Given the description of an element on the screen output the (x, y) to click on. 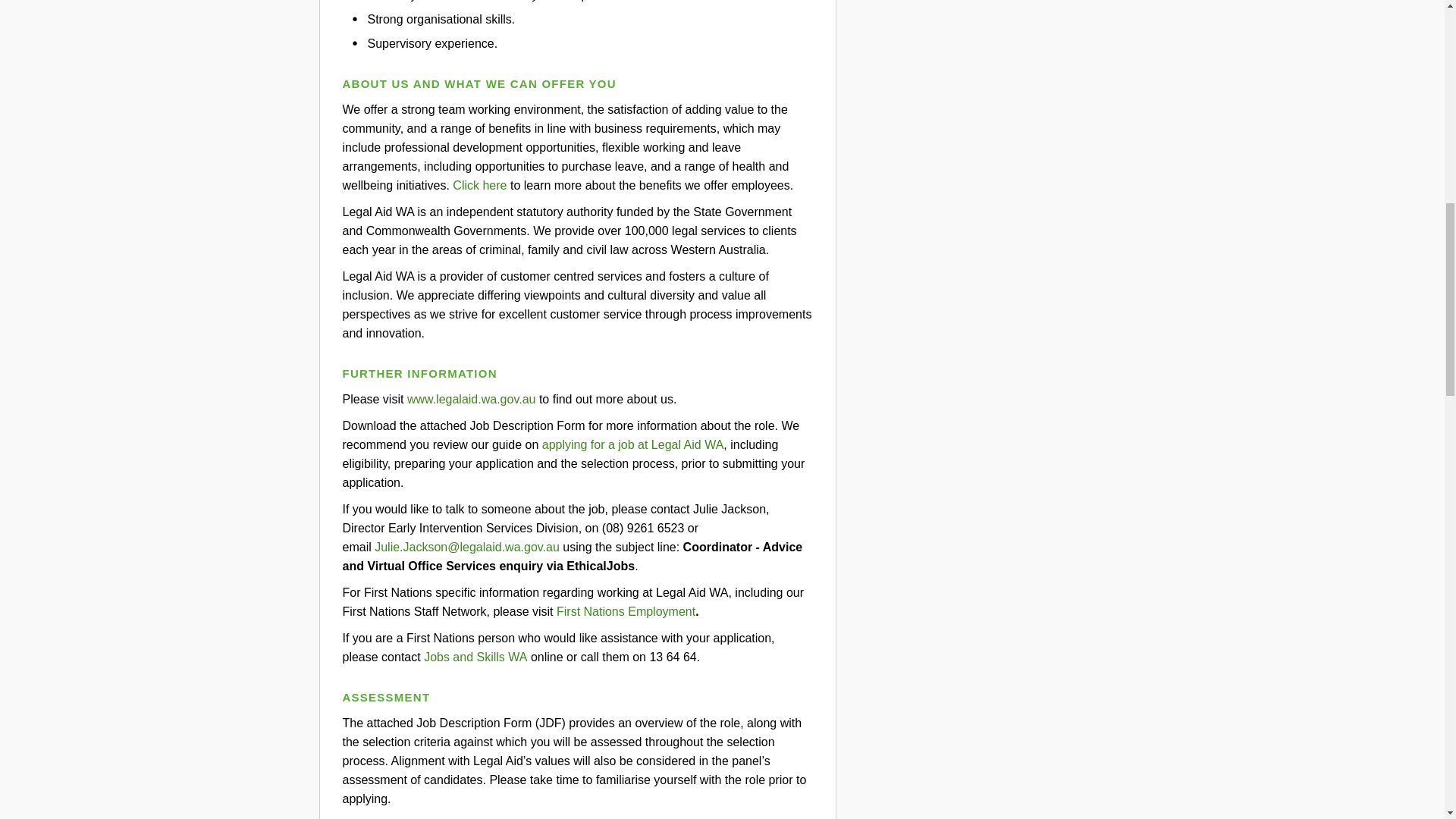
First Nations Employment (625, 609)
applying for a job at Legal Aid WA (633, 443)
www.legalaid.wa.gov.au (471, 397)
Click here (479, 183)
